Given the description of an element on the screen output the (x, y) to click on. 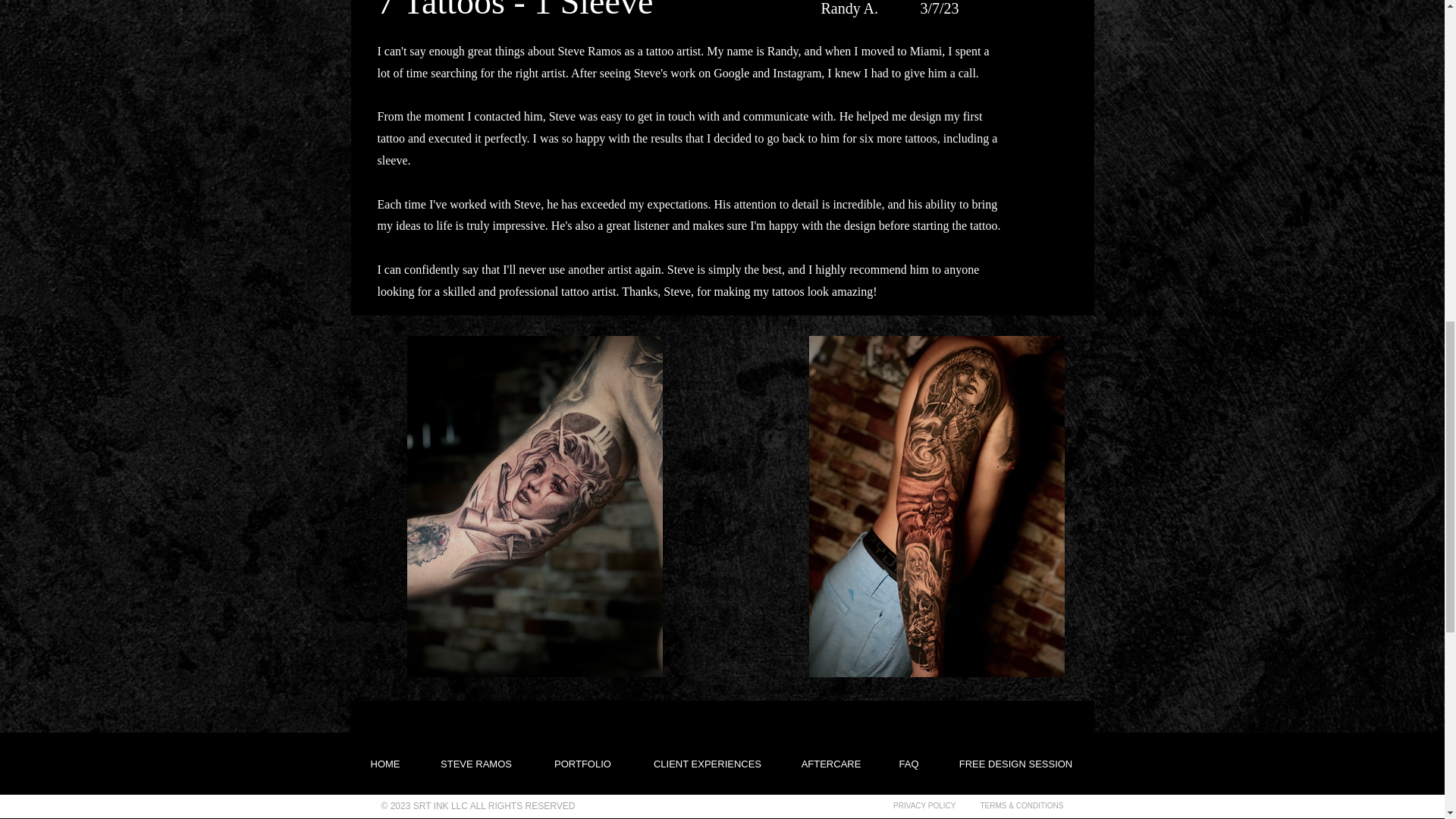
Previous (417, 757)
Next (1029, 757)
